Given the description of an element on the screen output the (x, y) to click on. 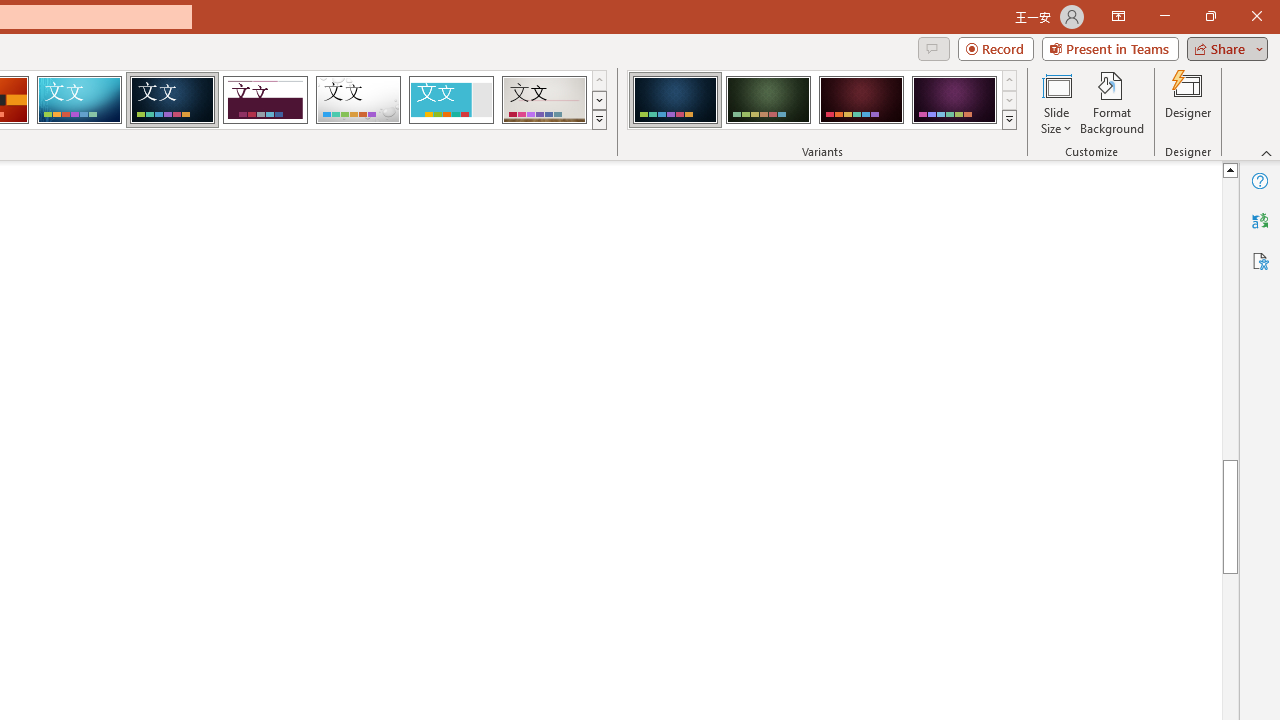
Circuit (79, 100)
Damask Variant 3 (861, 100)
